Given the description of an element on the screen output the (x, y) to click on. 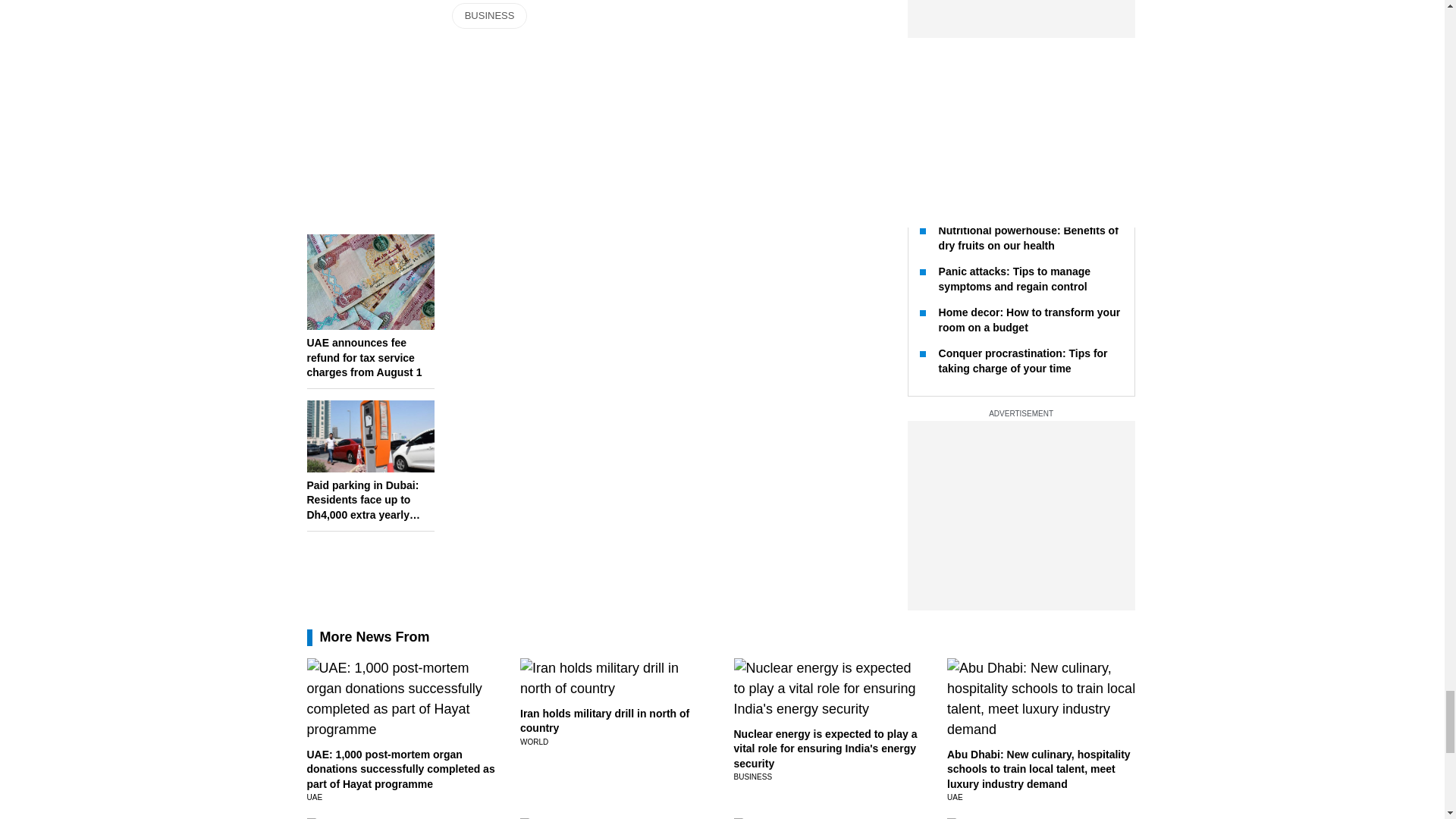
Iran holds military drill in north of country (603, 720)
